Given the description of an element on the screen output the (x, y) to click on. 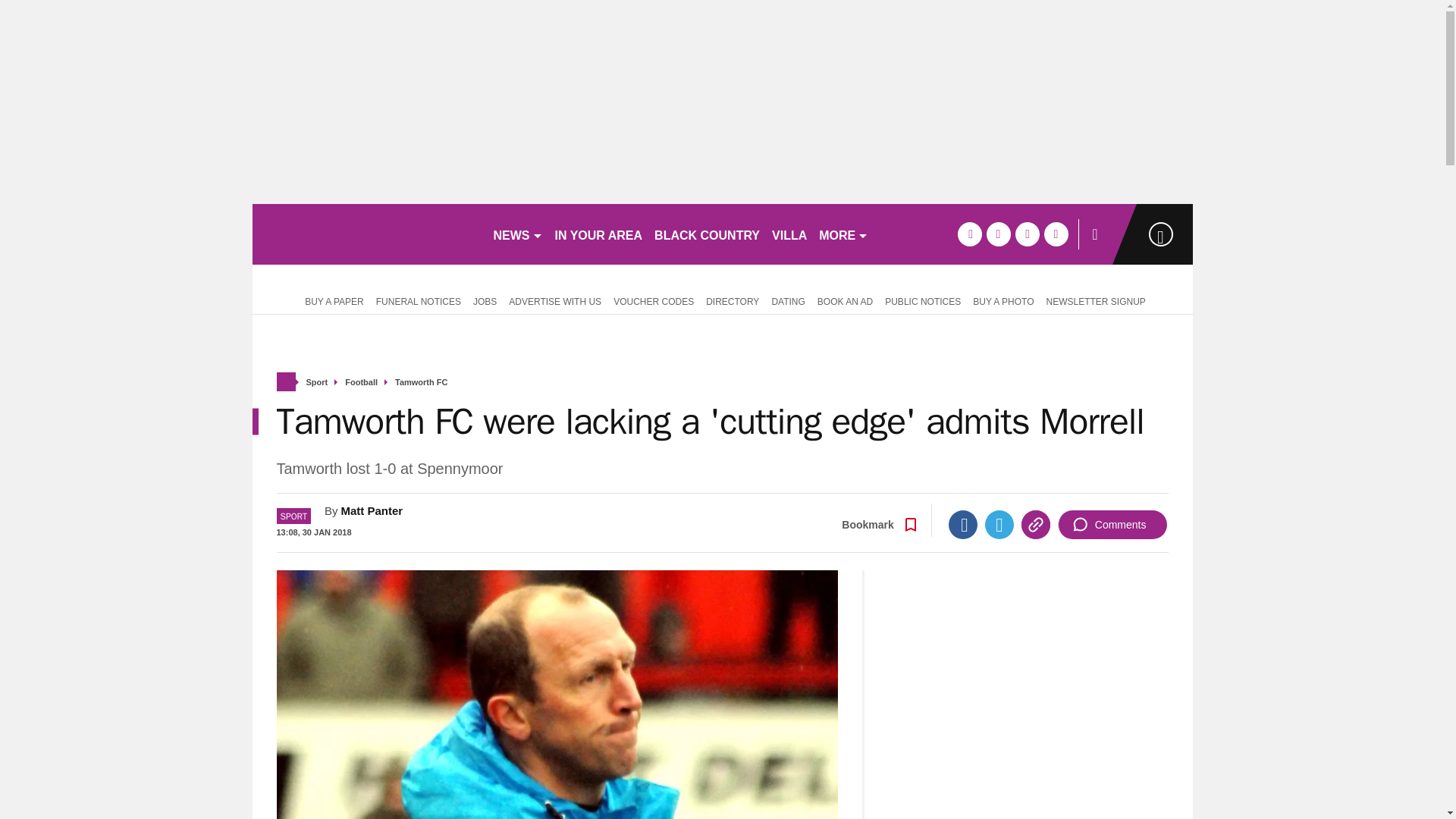
birminghammail (365, 233)
IN YOUR AREA (598, 233)
MORE (843, 233)
BLACK COUNTRY (706, 233)
instagram (1055, 233)
tiktok (1026, 233)
Comments (1112, 524)
facebook (968, 233)
NEWS (517, 233)
Twitter (999, 524)
twitter (997, 233)
Facebook (962, 524)
